Given the description of an element on the screen output the (x, y) to click on. 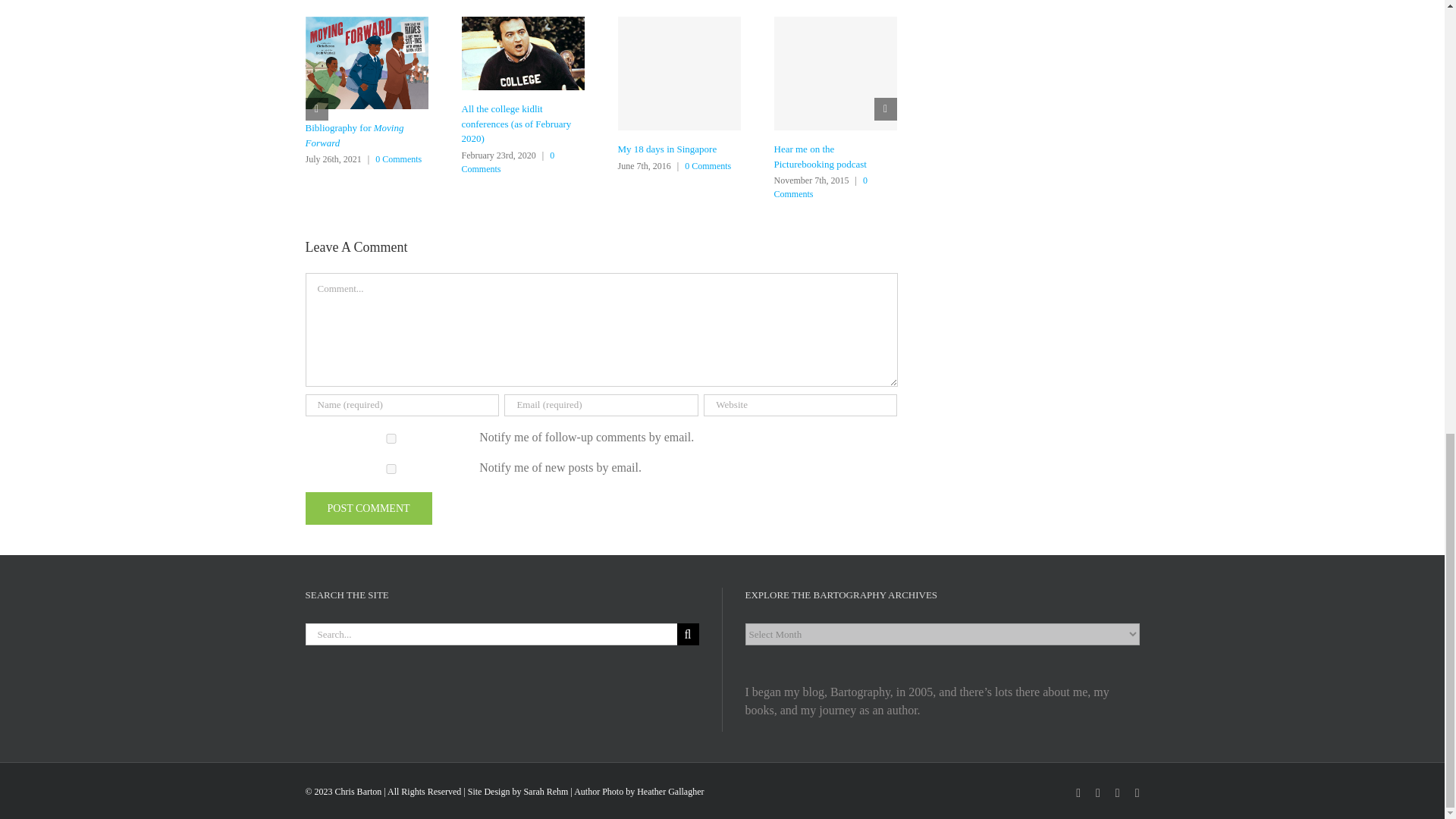
Bibliography for Moving Forward (353, 135)
My 18 days in Singapore (666, 148)
Hear me on the Picturebooking podcast (819, 156)
Post Comment (367, 508)
subscribe (390, 438)
subscribe (390, 469)
